Given the description of an element on the screen output the (x, y) to click on. 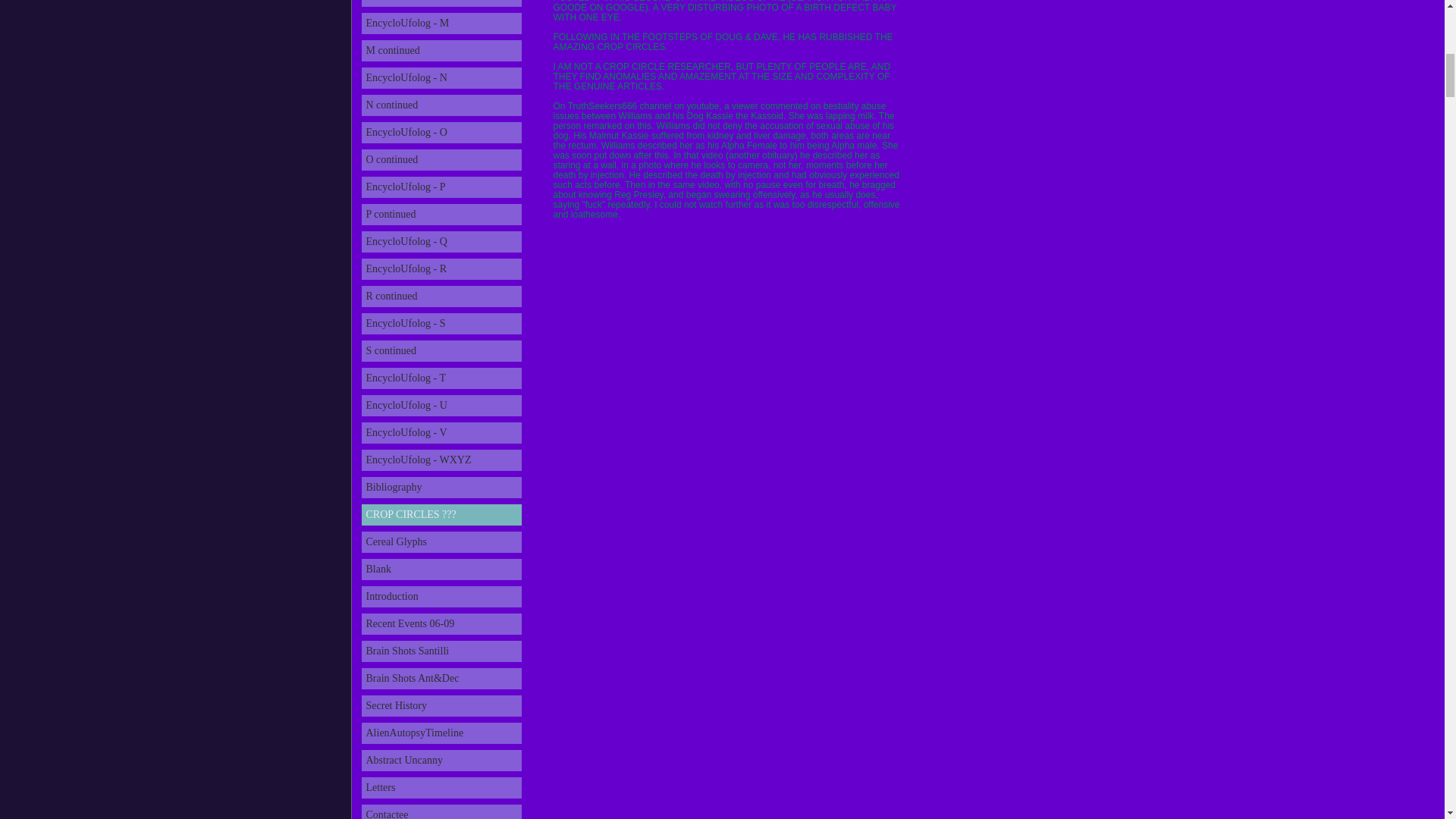
R continued (441, 296)
EncycloUfolog - O (441, 132)
EncycloUfolog - Q (441, 241)
O continued (441, 159)
EncycloUfolog - P (441, 187)
EncycloUfolog - S (441, 323)
EncycloUfolog - M (441, 23)
N continued (441, 105)
L continued (441, 3)
EncycloUfolog - R (441, 269)
P continued (441, 214)
EncycloUfolog - N (441, 77)
M continued (441, 50)
